Given the description of an element on the screen output the (x, y) to click on. 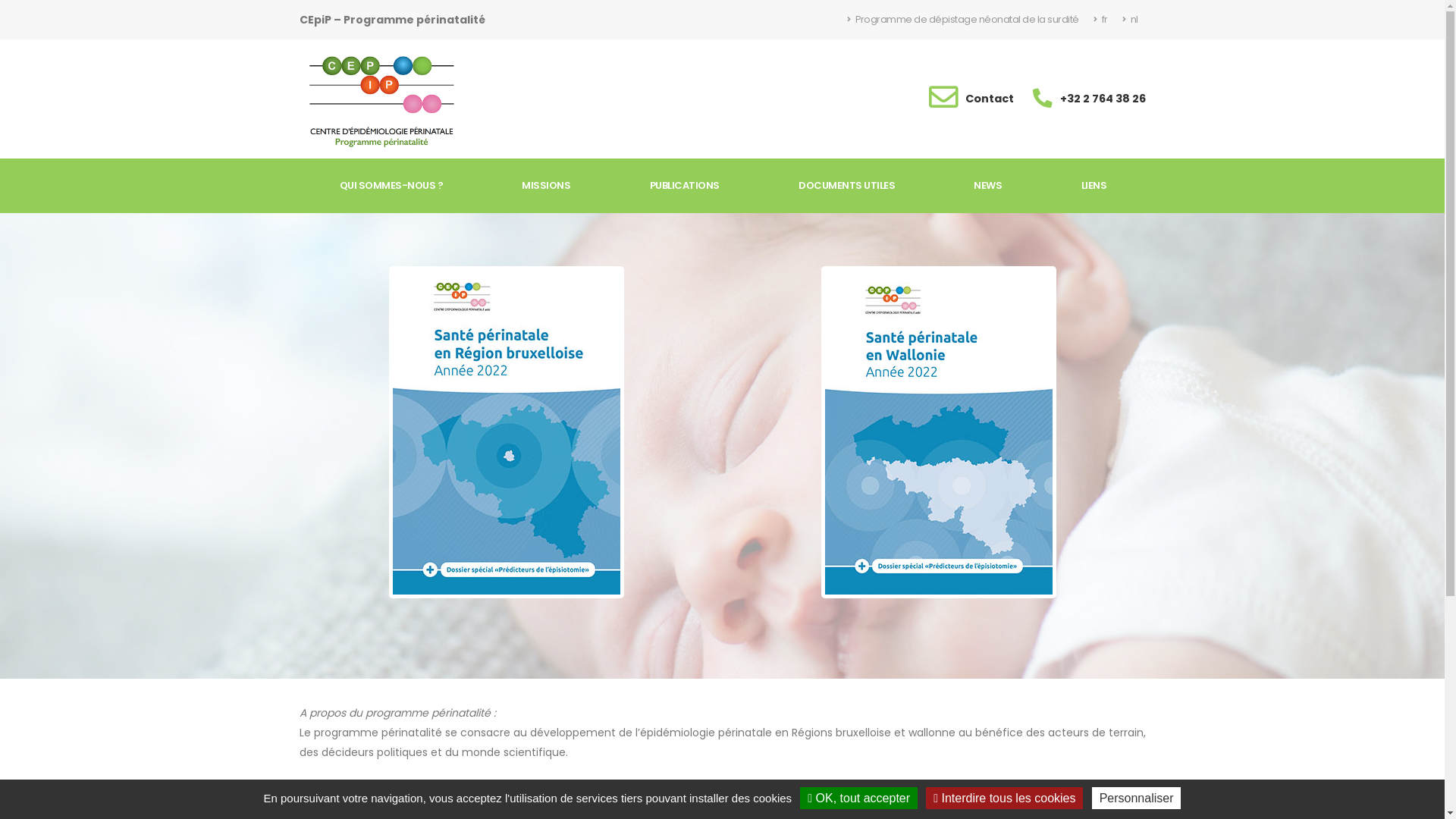
DOCUMENTS UTILES Element type: text (846, 185)
nl Element type: text (1129, 19)
PUBLICATIONS Element type: text (684, 185)
LIENS Element type: text (1094, 185)
Personnaliser Element type: text (1136, 798)
+32 2 764 38 26 Element type: text (1102, 98)
NEWS Element type: text (987, 185)
Contact Element type: text (988, 98)
Interdire tous les cookies Element type: text (1003, 798)
OK, tout accepter Element type: text (858, 798)
MISSIONS Element type: text (545, 185)
QUI SOMMES-NOUS ? Element type: text (391, 185)
fr Element type: text (1099, 19)
